Given the description of an element on the screen output the (x, y) to click on. 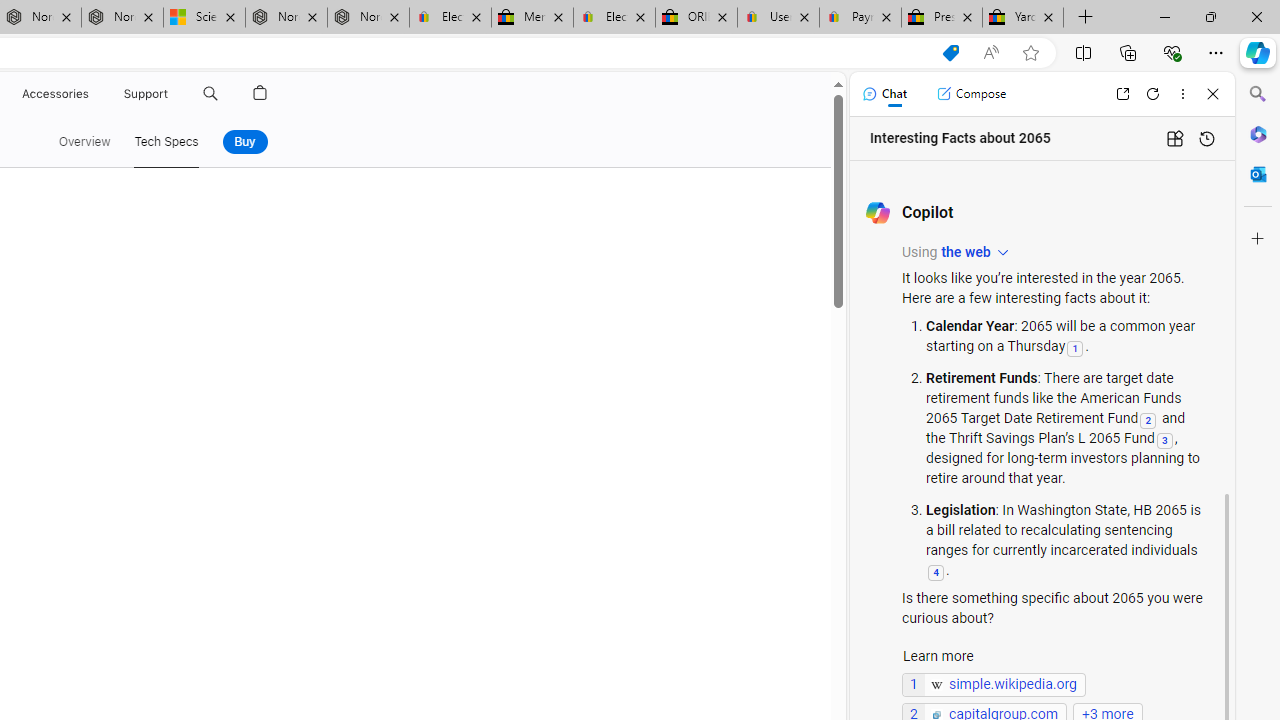
Class: globalnav-item globalnav-search shift-0-1 (210, 93)
Class: globalnav-submenu-trigger-item (172, 93)
Nordace - FAQ (368, 17)
Accessories (54, 93)
Search apple.com (210, 93)
Support menu (172, 93)
